Given the description of an element on the screen output the (x, y) to click on. 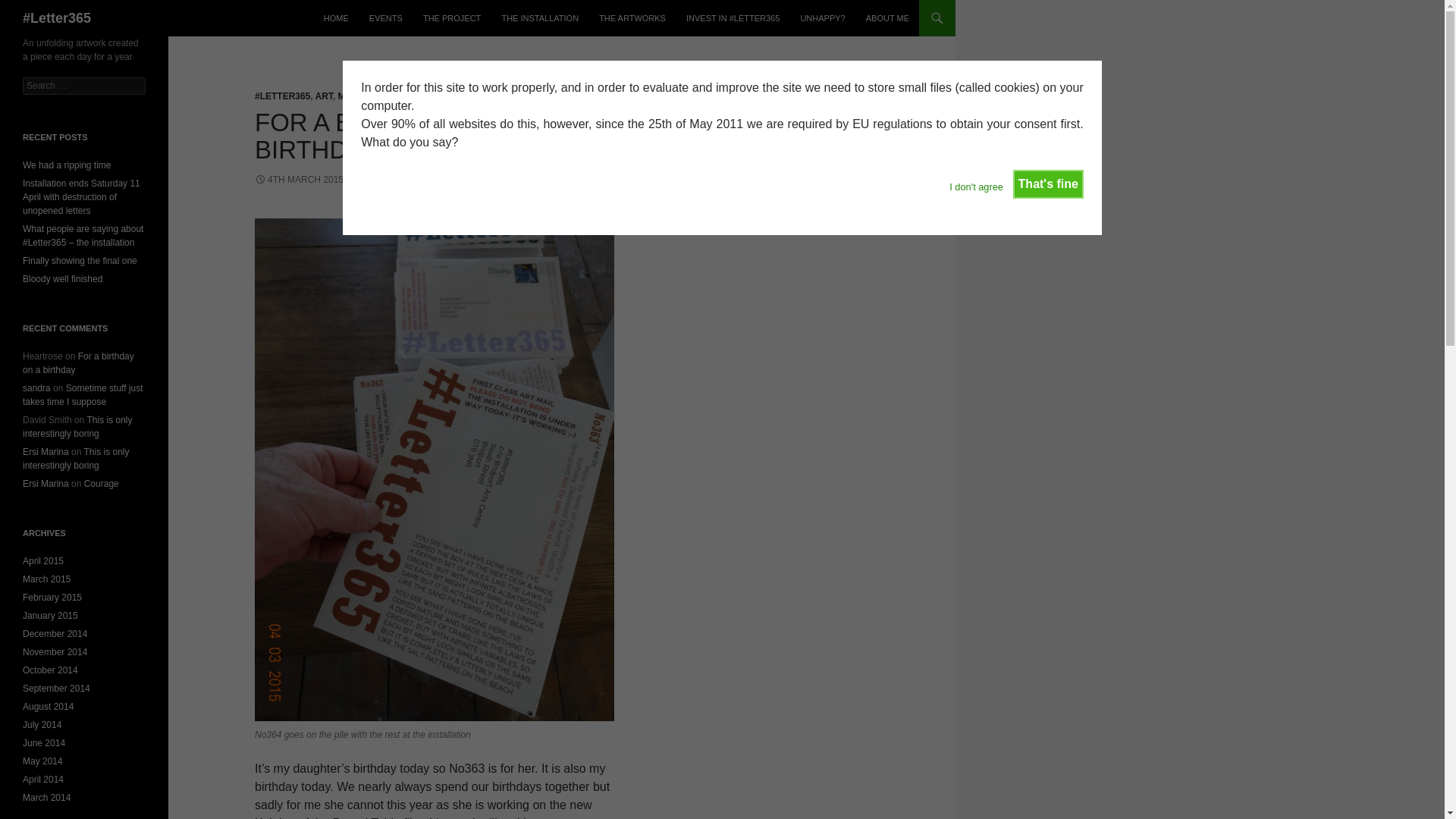
ABOUT ME (887, 18)
UNHAPPY? (821, 18)
Buy (733, 18)
1 COMMENT (467, 179)
THE PROJECT (451, 18)
I don't agree (976, 181)
What if you are disappointed with your piece? (821, 18)
THE INSTALLATION (540, 18)
